Given the description of an element on the screen output the (x, y) to click on. 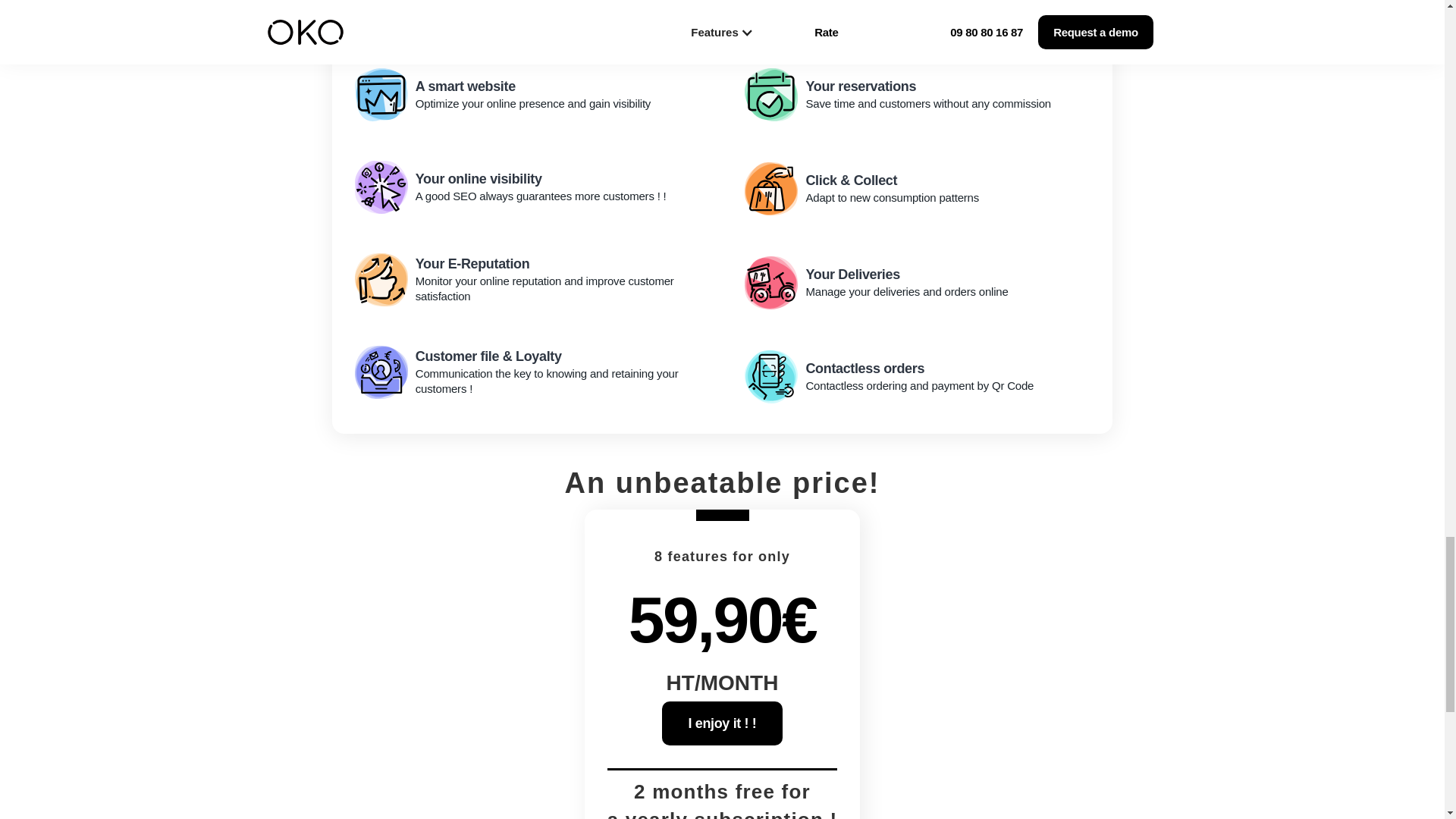
I enjoy it ! ! (917, 282)
